Given the description of an element on the screen output the (x, y) to click on. 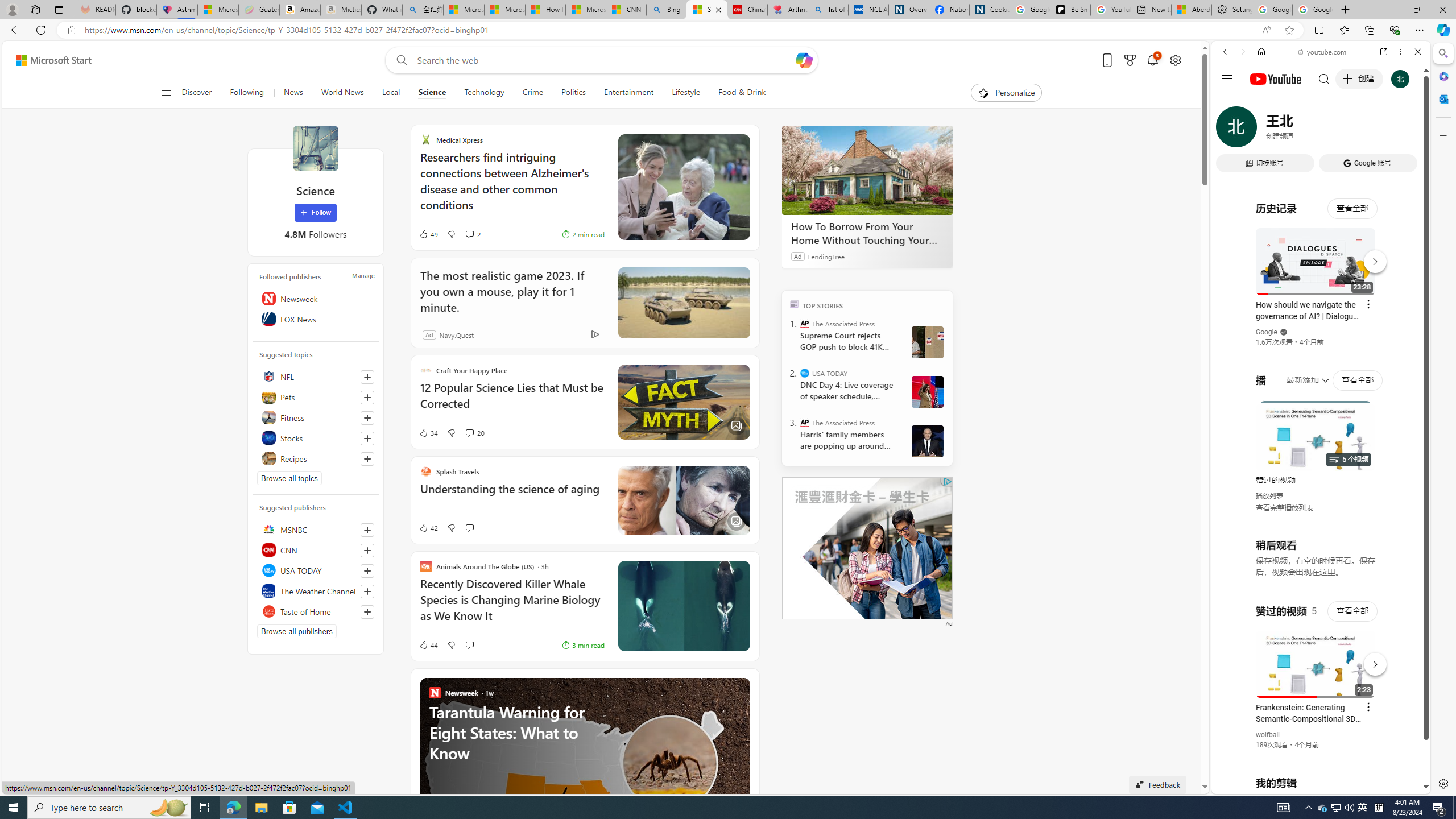
Back (1225, 51)
Class: qc-adchoices-icon (947, 481)
Search Filter, WEB (1230, 129)
Forward (1242, 51)
Trailer #2 [HD] (1320, 337)
Technology (483, 92)
New Tab (1346, 9)
USA TODAY (804, 372)
Music (1320, 309)
Follow (315, 212)
Open Copilot (803, 59)
Search Filter, IMAGES (1262, 129)
